Given the description of an element on the screen output the (x, y) to click on. 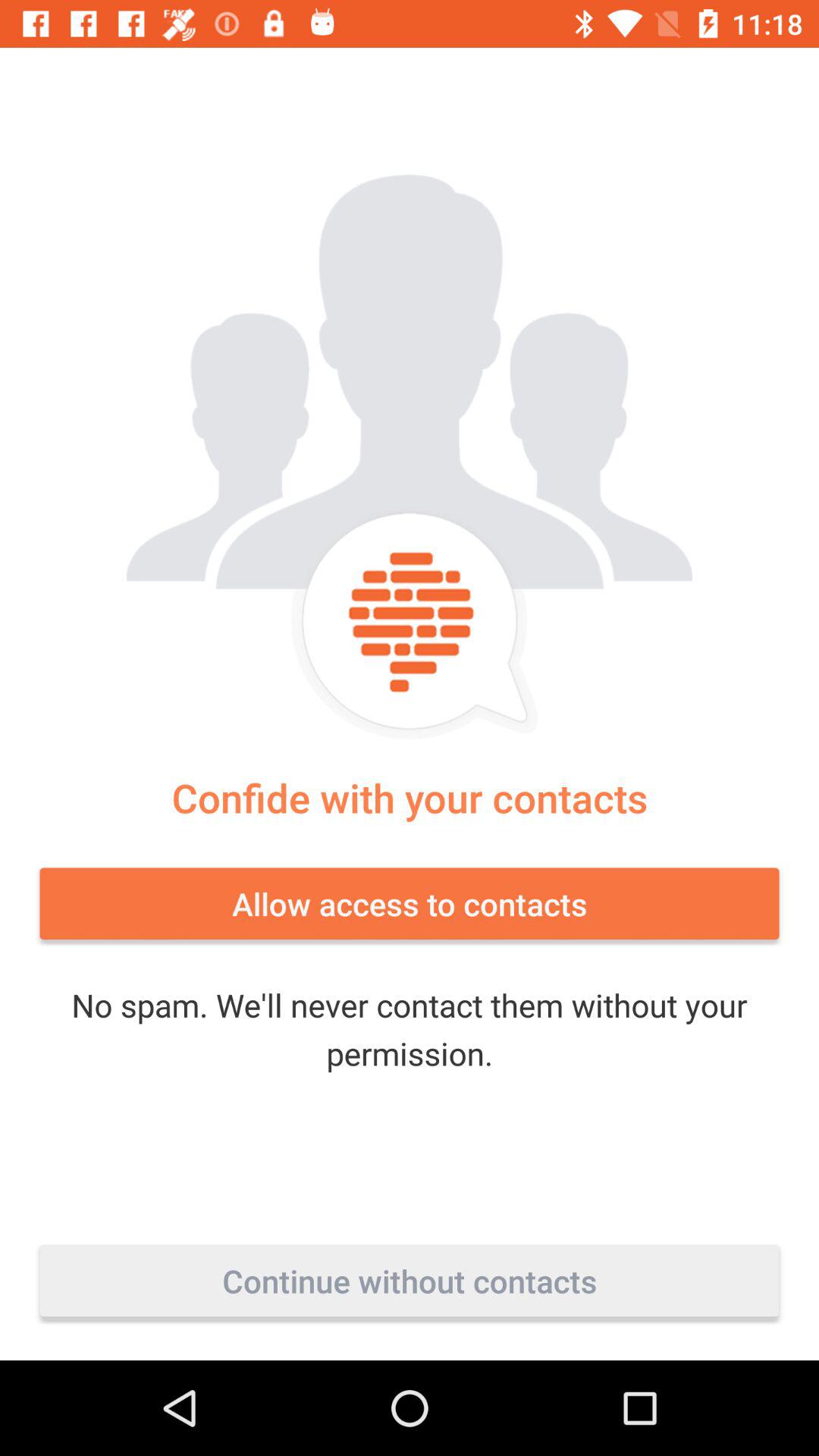
launch item above no spam we (409, 903)
